Given the description of an element on the screen output the (x, y) to click on. 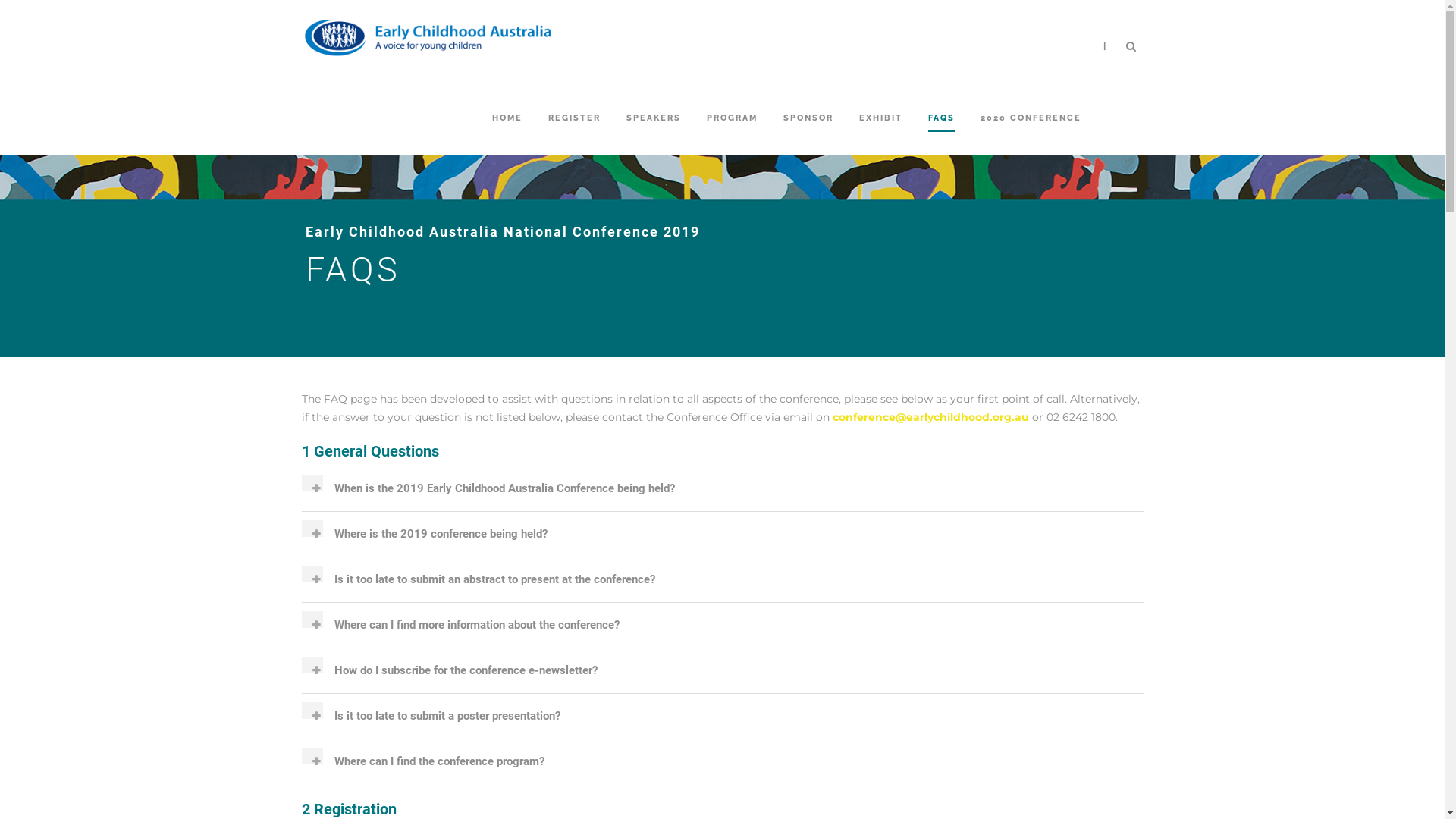
EXHIBIT Element type: text (879, 132)
REGISTER Element type: text (573, 132)
FAQS Element type: text (941, 132)
SPEAKERS Element type: text (653, 132)
conference@earlychildhood.org.au Element type: text (930, 416)
PROGRAM Element type: text (731, 132)
HOME Element type: text (506, 132)
SPONSOR Element type: text (807, 132)
2020 CONFERENCE Element type: text (1029, 132)
